Given the description of an element on the screen output the (x, y) to click on. 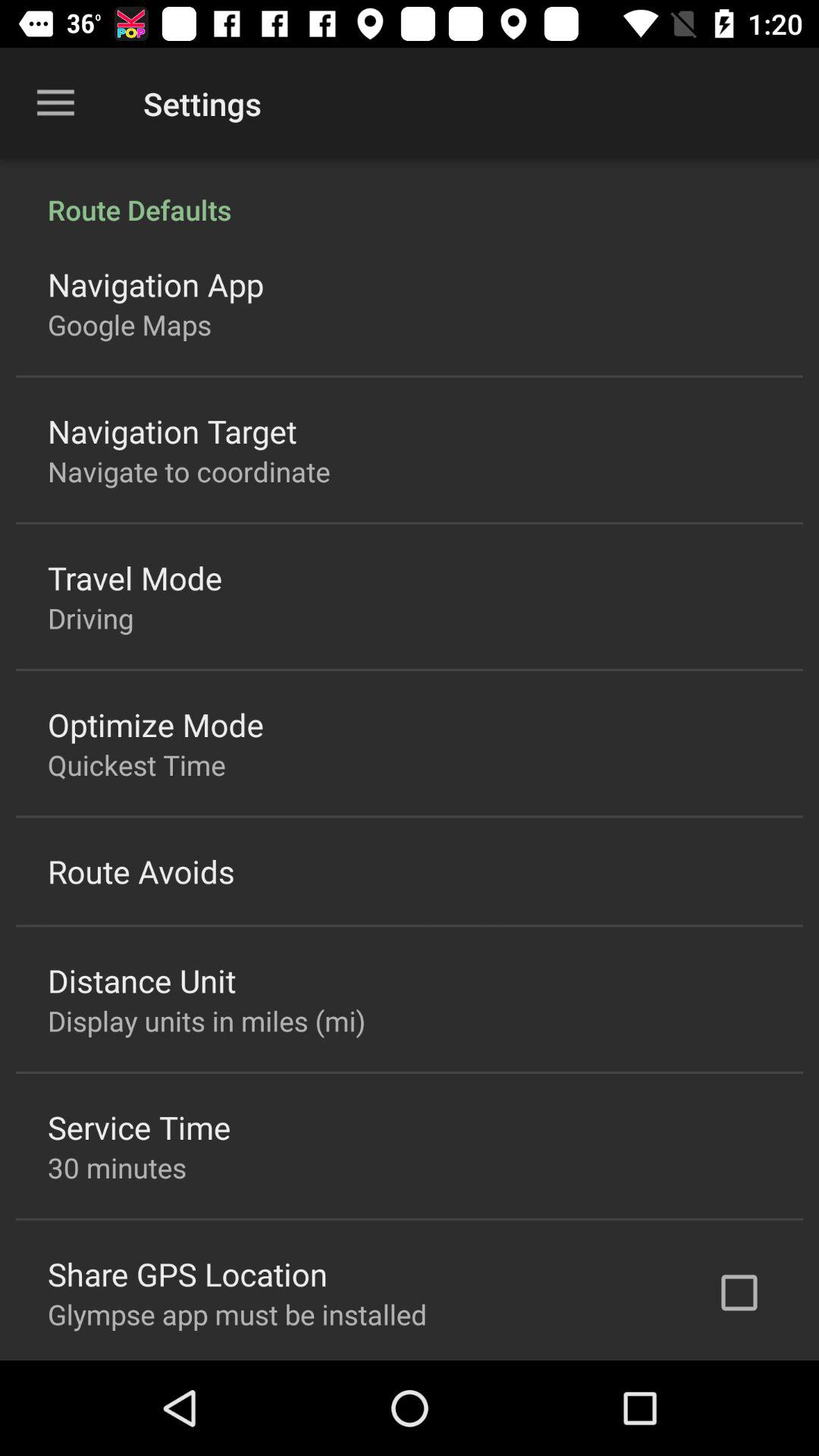
tap icon below the quickest time item (140, 870)
